Given the description of an element on the screen output the (x, y) to click on. 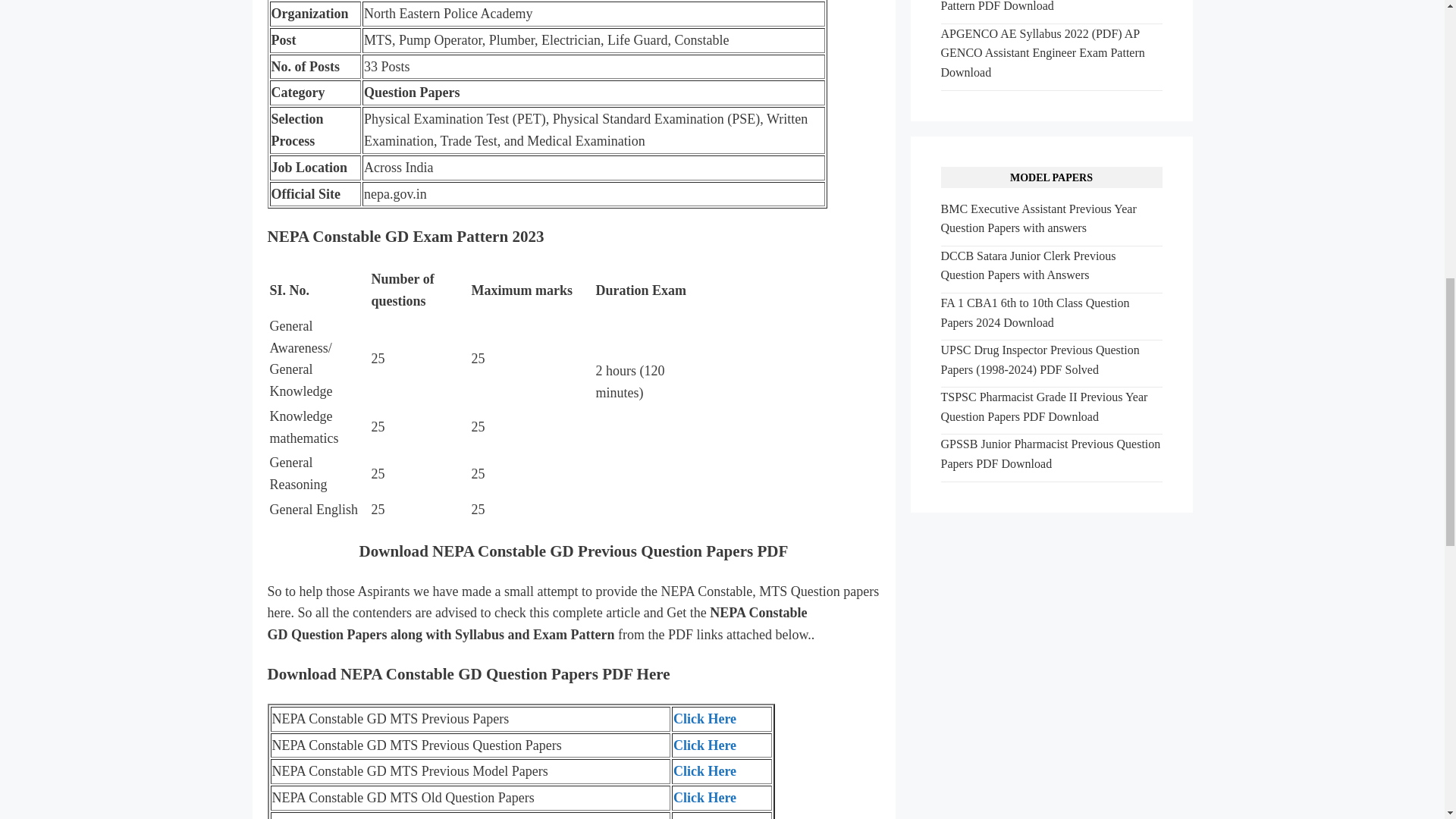
Click Here (704, 817)
Click Here (704, 797)
Click Here (704, 770)
Click Here (704, 718)
Click Here (704, 744)
